Given the description of an element on the screen output the (x, y) to click on. 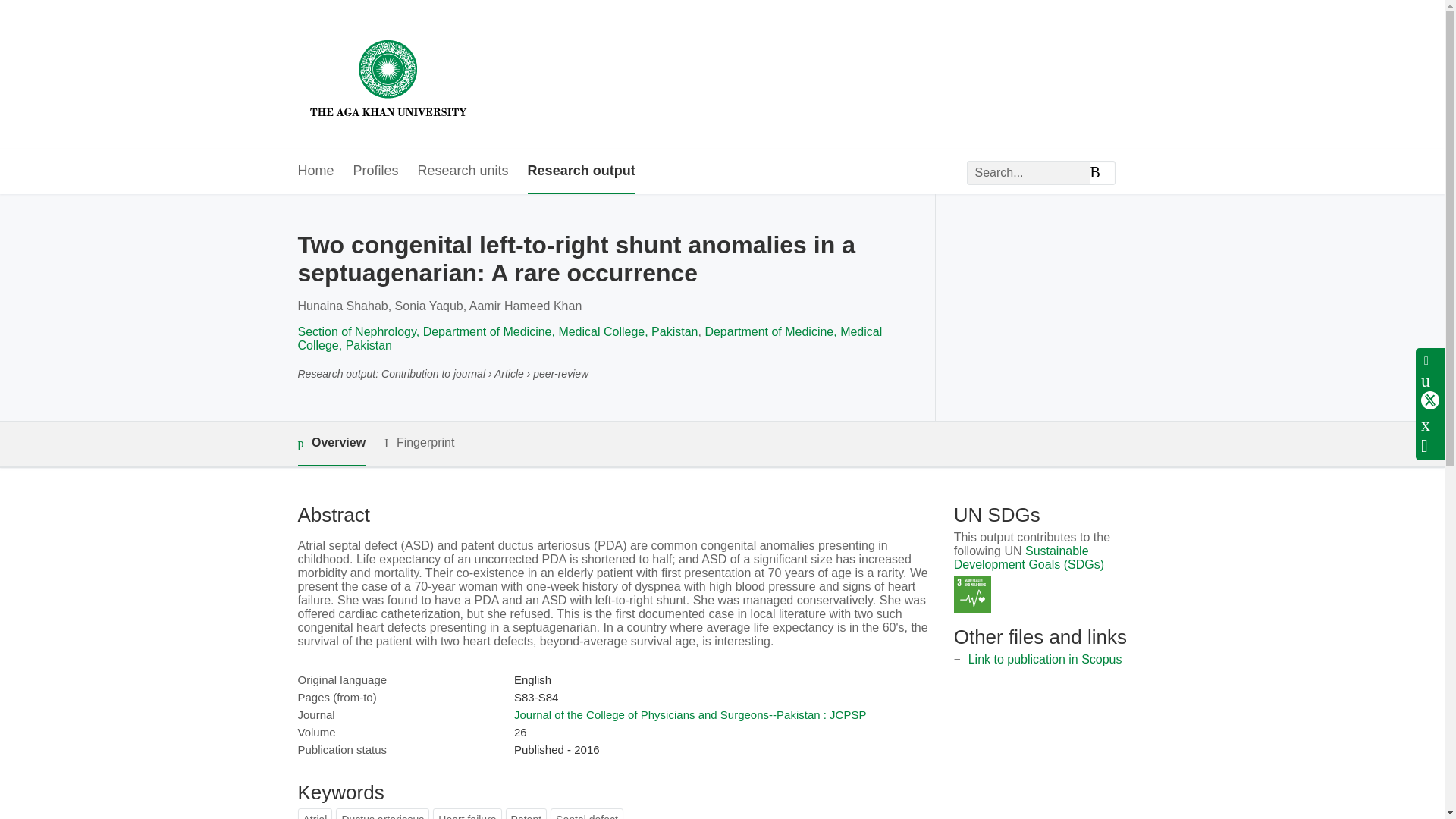
Link to publication in Scopus (1045, 658)
Department of Medicine, Medical College, Pakistan (589, 338)
Research units (462, 171)
Overview (331, 443)
Profiles (375, 171)
The Aga Khan University Home (388, 74)
Fingerprint (419, 443)
Research output (580, 171)
SDG 3 - Good Health and Well-being (972, 593)
